Given the description of an element on the screen output the (x, y) to click on. 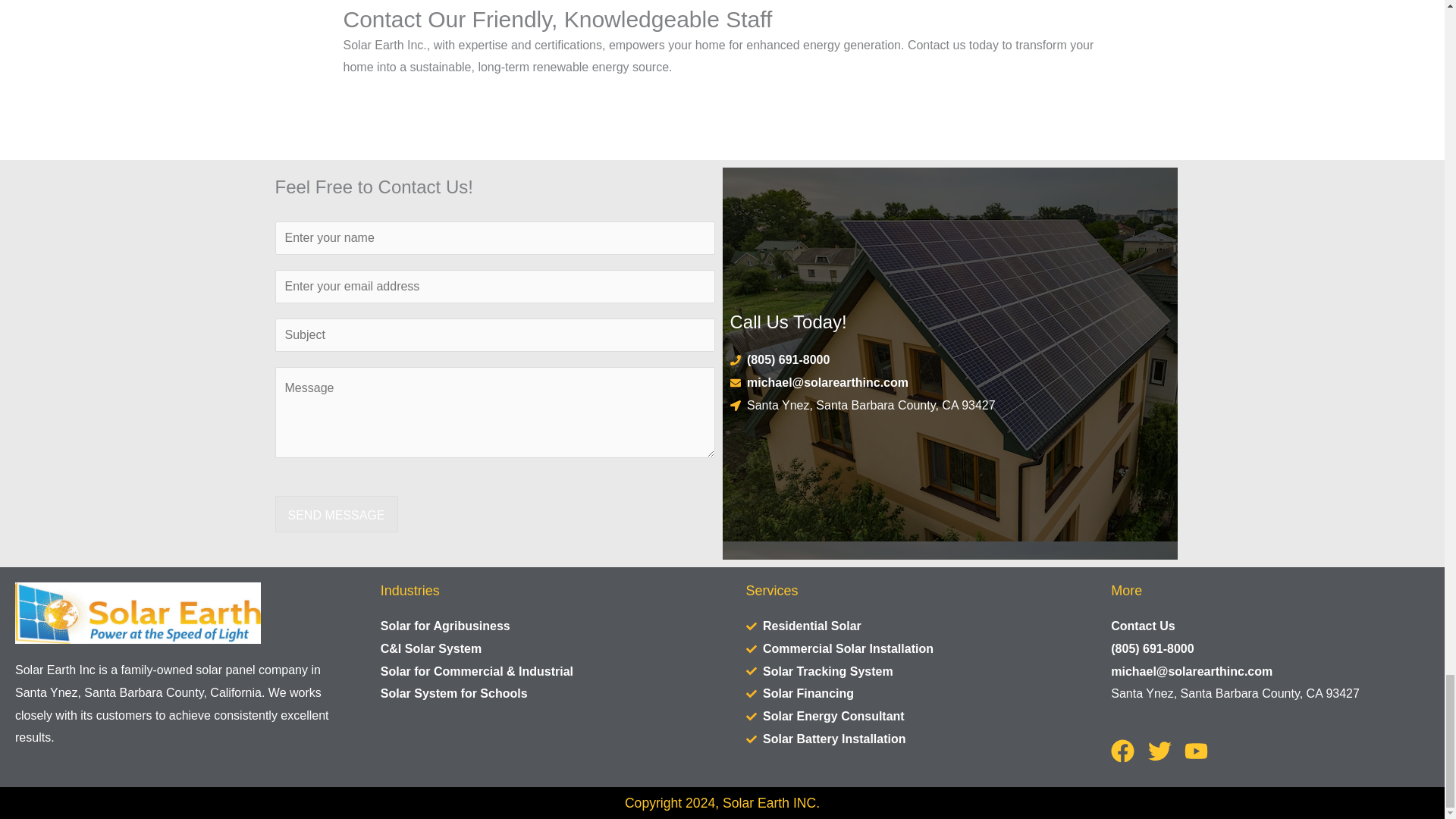
Solar System for Schools (539, 693)
Residential Solar (904, 626)
SEND MESSAGE (336, 514)
Solar for Agribusiness (539, 626)
Solar Tracking System (904, 671)
Solar Energy Consultant (904, 716)
Solar Financing (904, 693)
Commercial Solar Installation (904, 649)
